Given the description of an element on the screen output the (x, y) to click on. 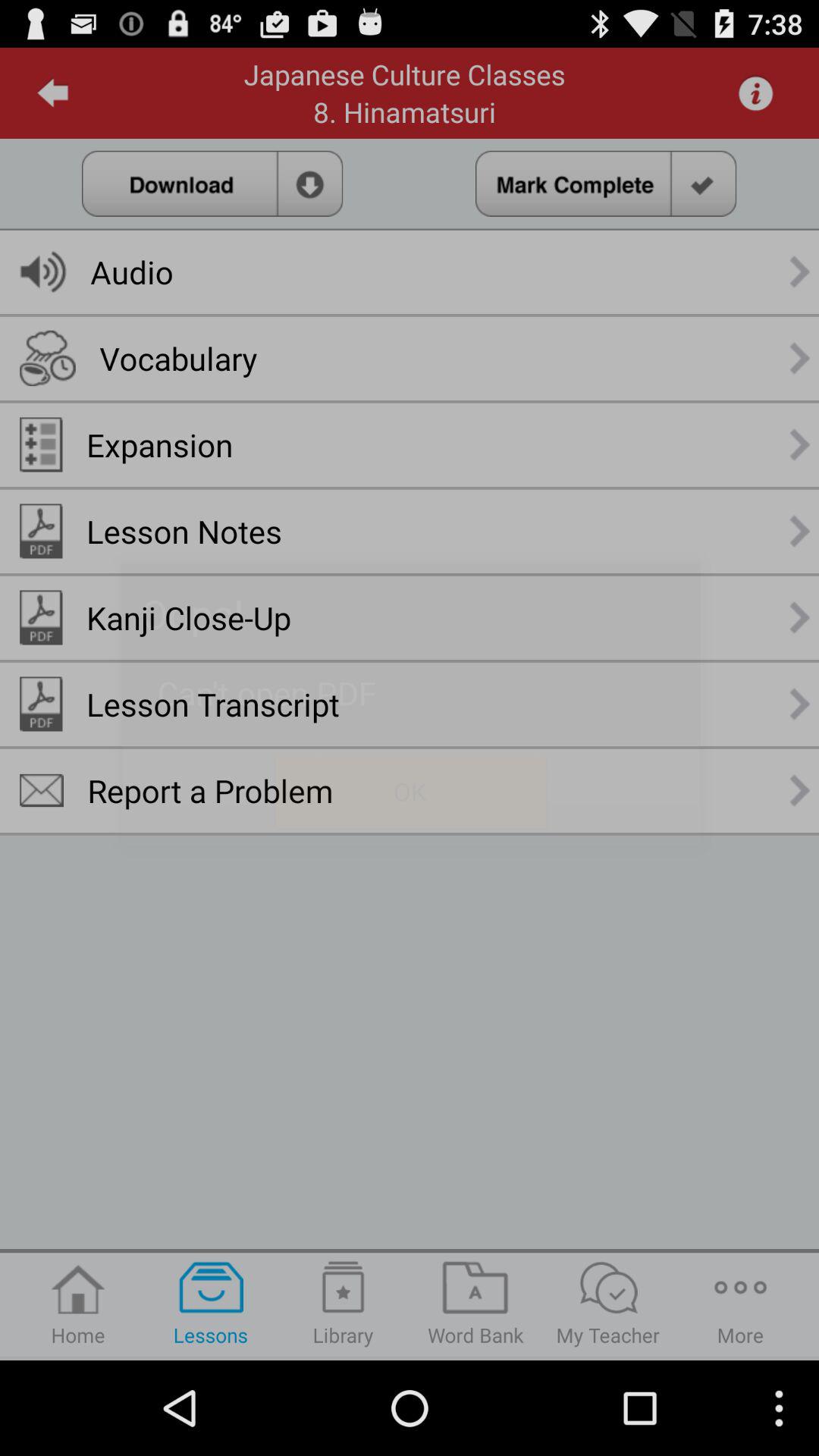
open icon above the vocabulary (131, 271)
